Given the description of an element on the screen output the (x, y) to click on. 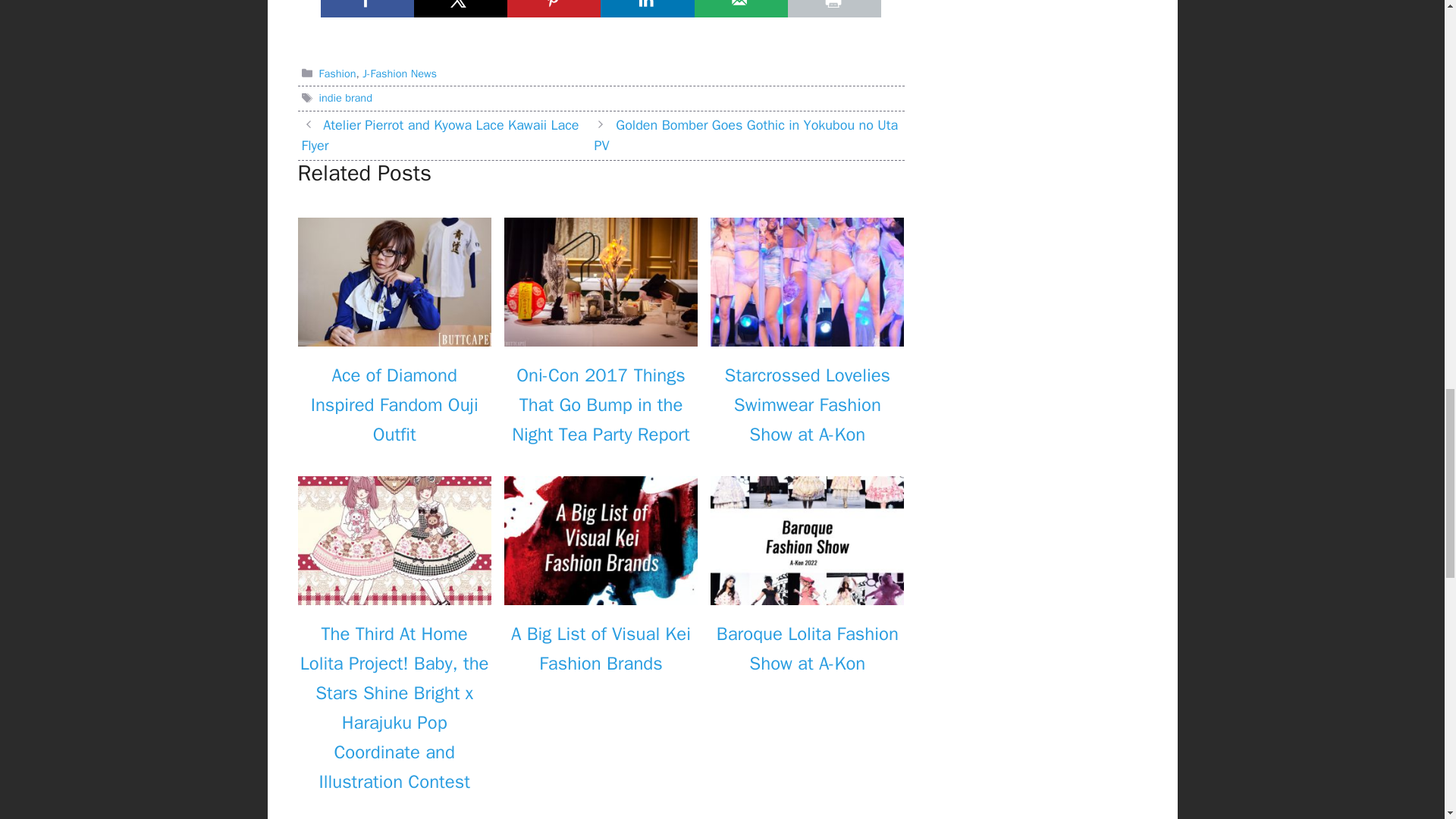
Share on LinkedIn (646, 8)
Share on X (459, 8)
Save to Pinterest (552, 8)
Starcrossed Lovelies Swimwear Fashion Show at A-Kon (807, 335)
Print this webpage (833, 8)
Share on Facebook (366, 8)
Send over email (740, 8)
Ace of Diamond Inspired Fandom Ouji Outfit (393, 335)
